Given the description of an element on the screen output the (x, y) to click on. 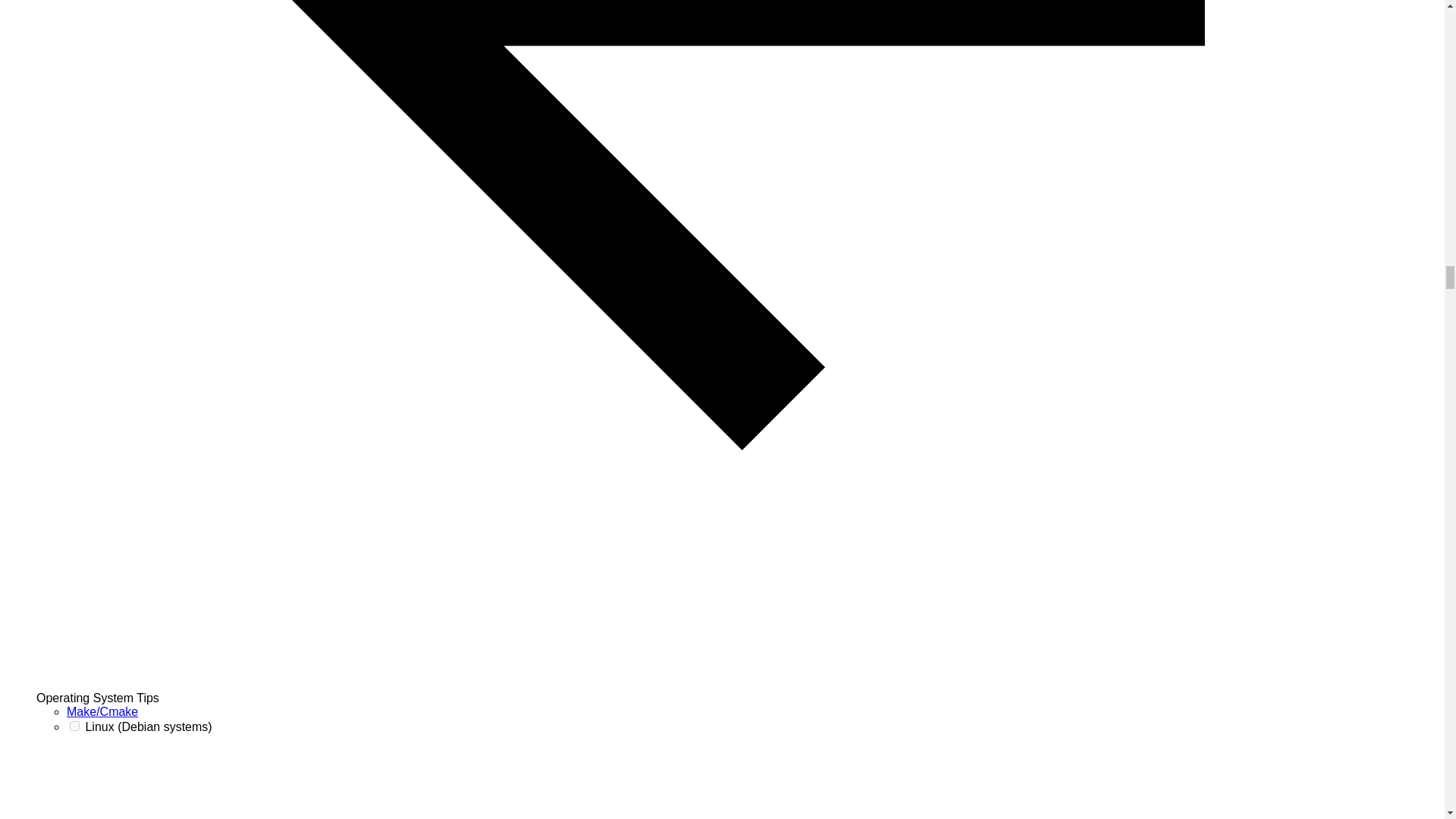
on (74, 726)
